Given the description of an element on the screen output the (x, y) to click on. 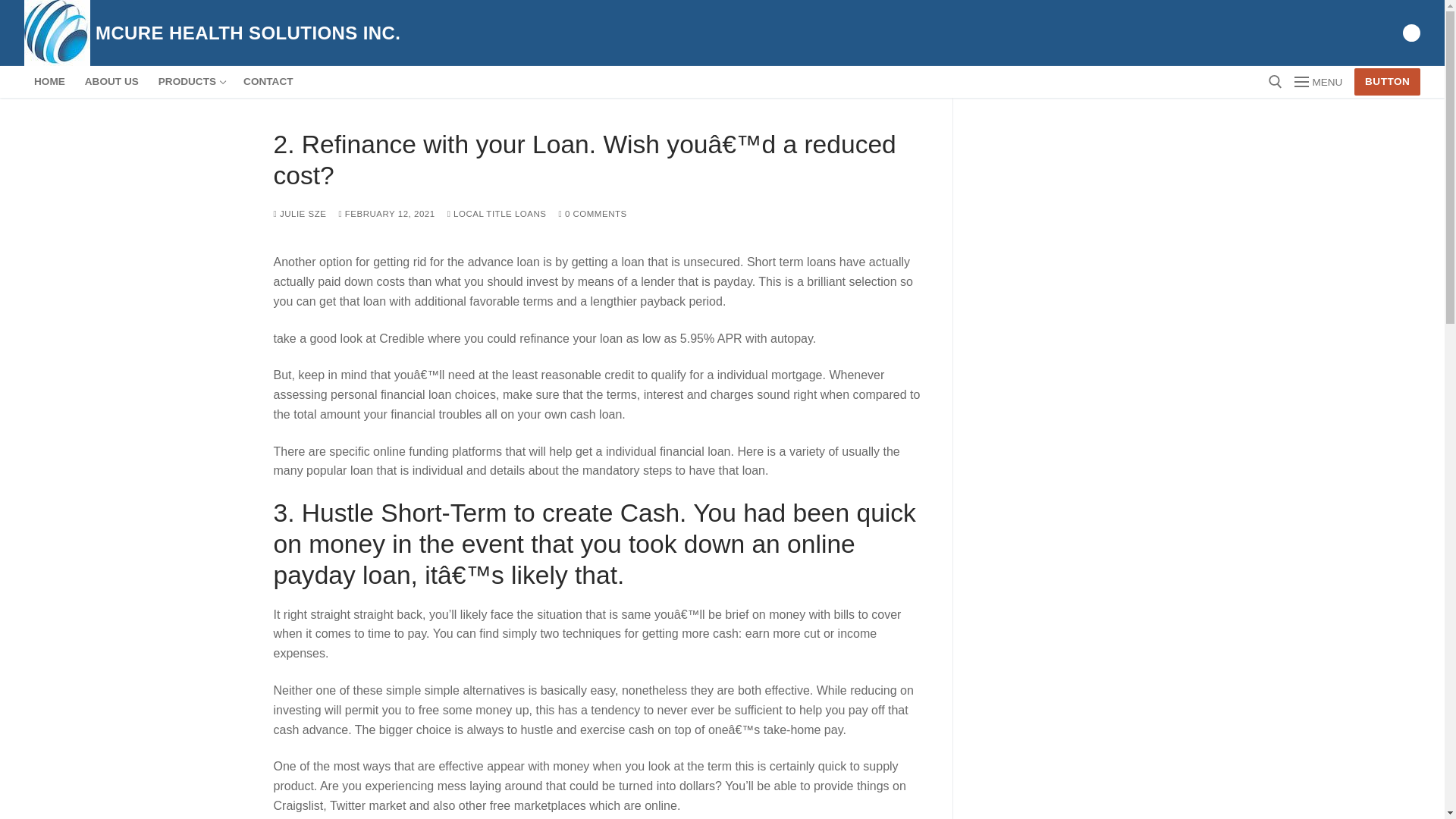
0 COMMENTS (591, 213)
MCURE HEALTH SOLUTIONS INC. (248, 33)
Email Us (1411, 32)
JULIE SZE (299, 213)
ABOUT US (111, 81)
HOME (49, 81)
BUTTON (1387, 81)
CONTACT (267, 81)
FEBRUARY 12, 2021 (385, 213)
LOCAL TITLE LOANS (496, 213)
